Given the description of an element on the screen output the (x, y) to click on. 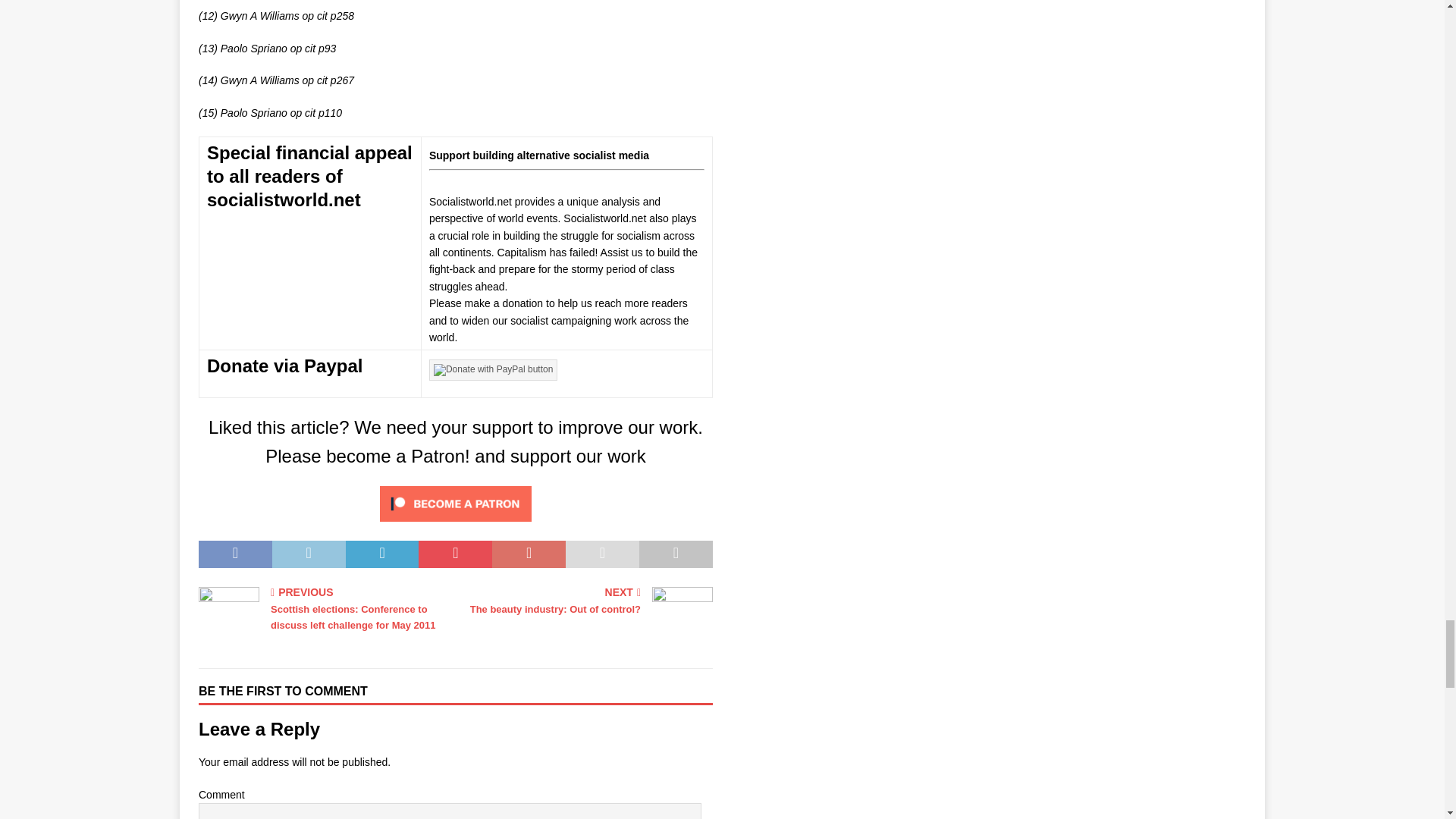
PayPal - The safer, easier way to pay online! (493, 369)
